Given the description of an element on the screen output the (x, y) to click on. 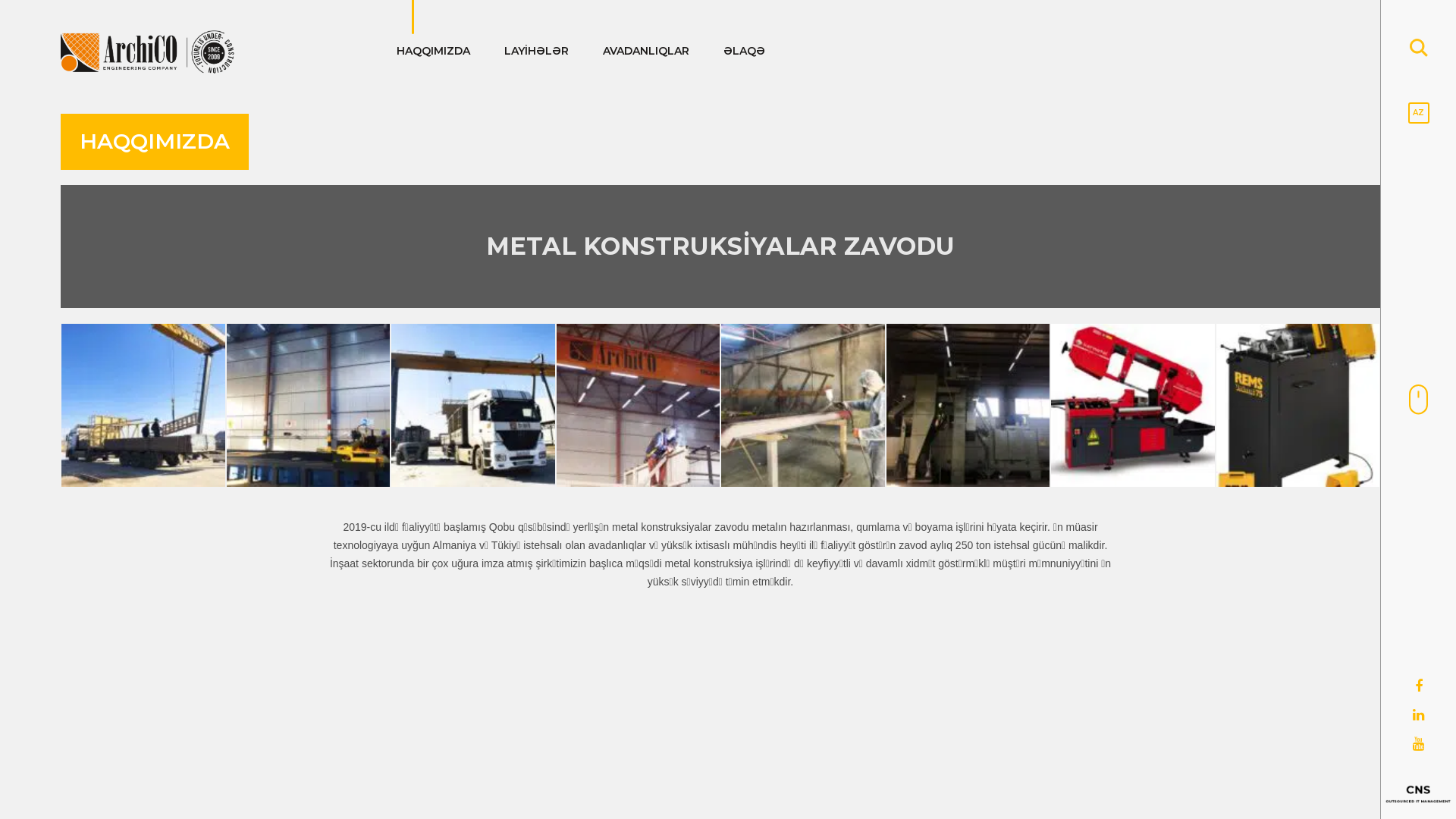
AZ Element type: text (1417, 112)
AVADANLIQLAR Element type: text (662, 50)
HAQQIMIZDA Element type: text (449, 50)
